Given the description of an element on the screen output the (x, y) to click on. 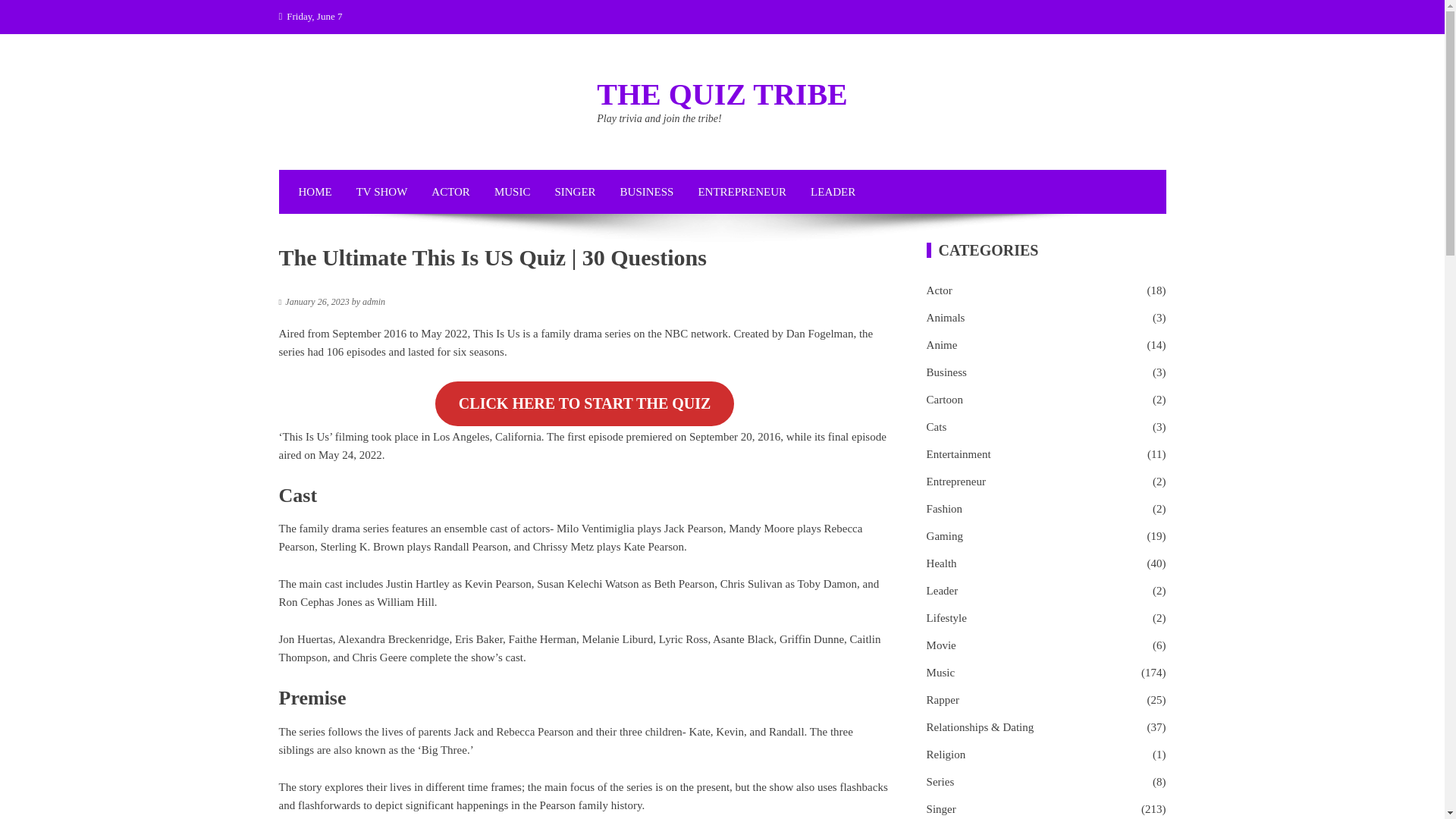
ACTOR (450, 191)
CLICK HERE TO START THE QUIZ (584, 403)
LEADER (832, 191)
Gaming (944, 536)
TV SHOW (381, 191)
Business (946, 372)
Anime (942, 344)
MUSIC (512, 191)
HOME (314, 191)
BUSINESS (646, 191)
